Given the description of an element on the screen output the (x, y) to click on. 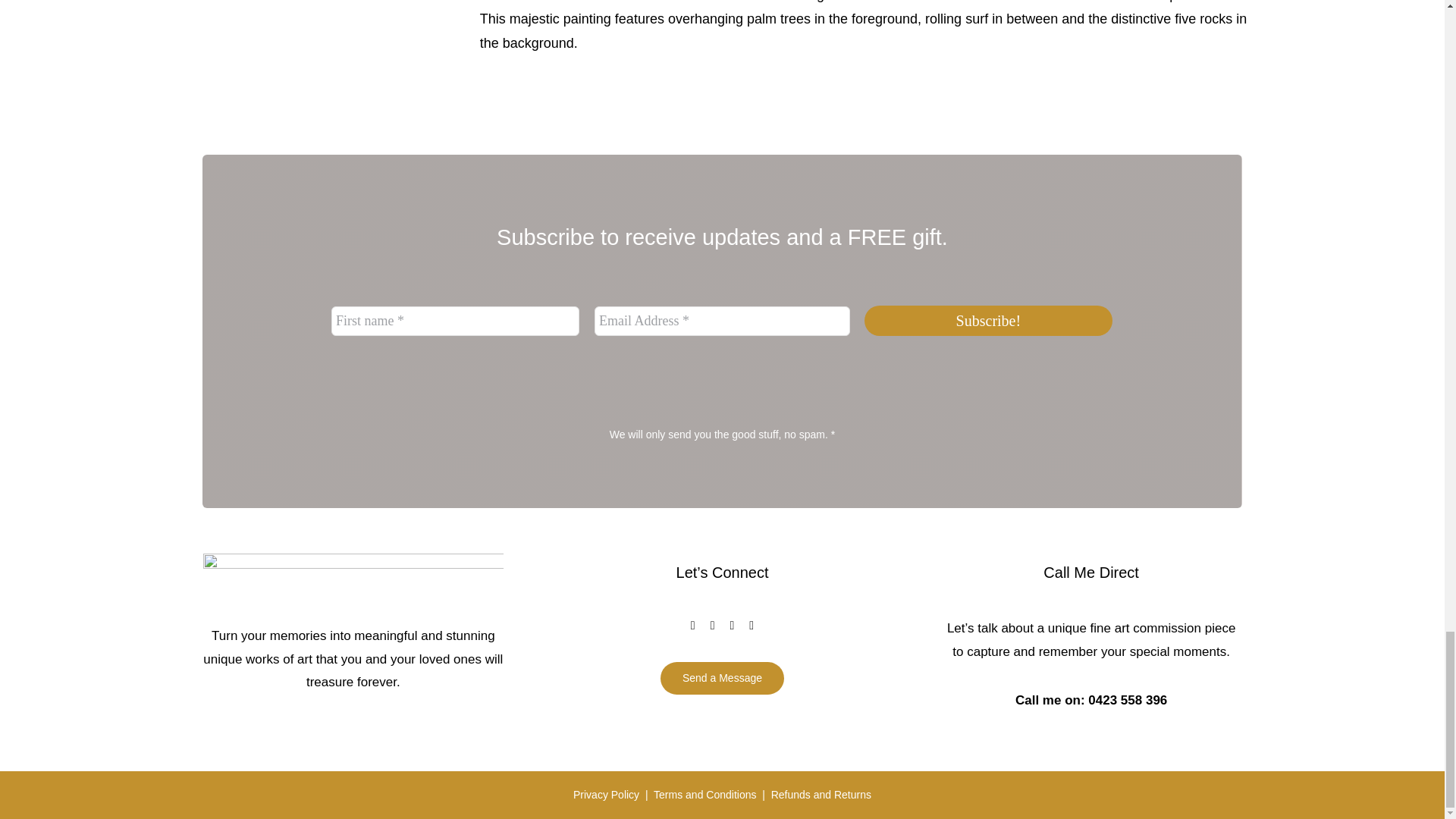
Email Address (722, 319)
First name (455, 319)
Subscribe! (988, 320)
black gold 2x (353, 582)
